Given the description of an element on the screen output the (x, y) to click on. 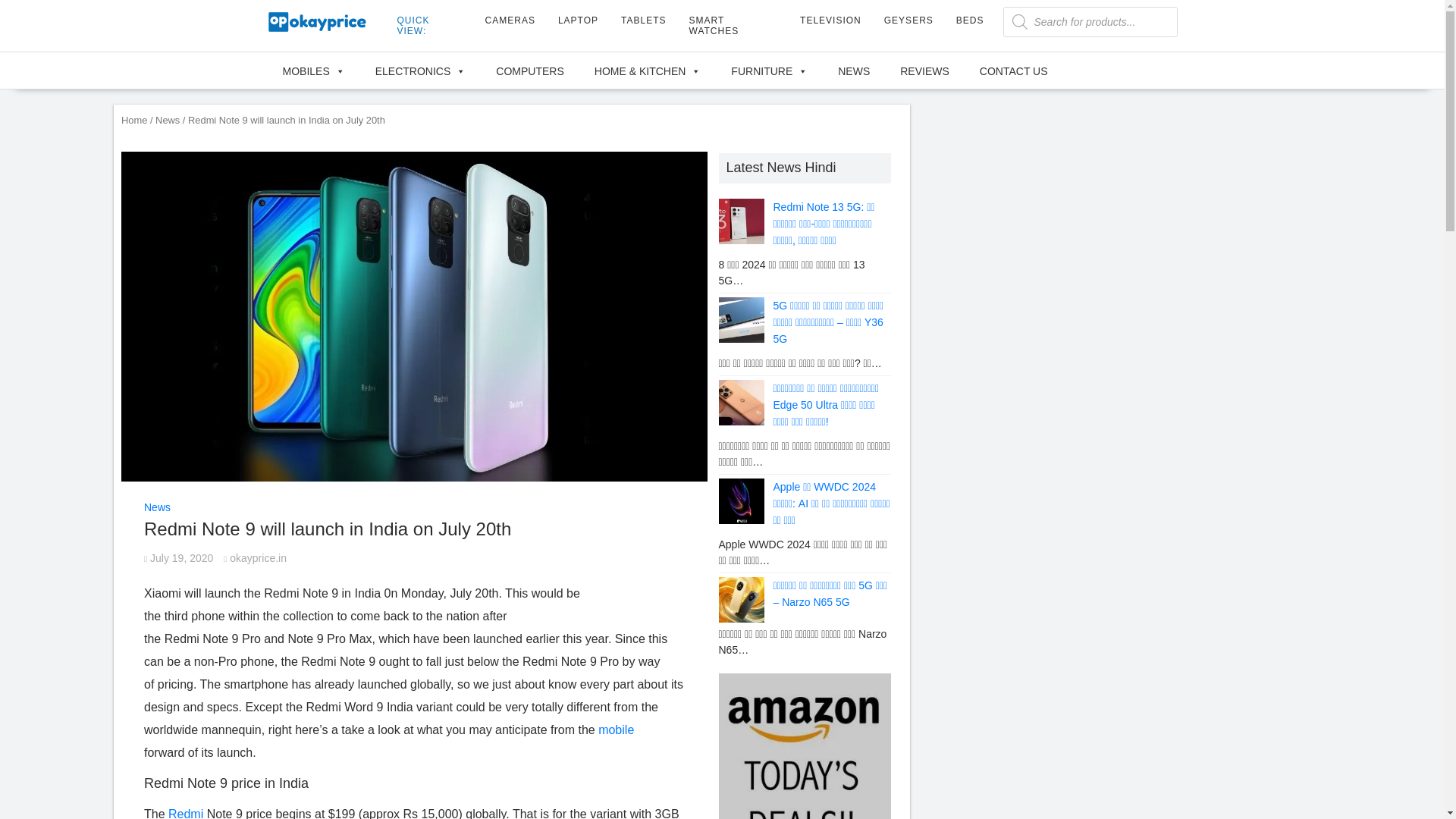
GEYSERS (908, 20)
QUICK VIEW: (429, 25)
SMART WATCHES (733, 25)
CAMERAS (510, 20)
MOBILES (312, 70)
ELECTRONICS (420, 70)
BEDS (969, 20)
TABLETS (643, 20)
TELEVISION (830, 20)
LAPTOP (578, 20)
